Given the description of an element on the screen output the (x, y) to click on. 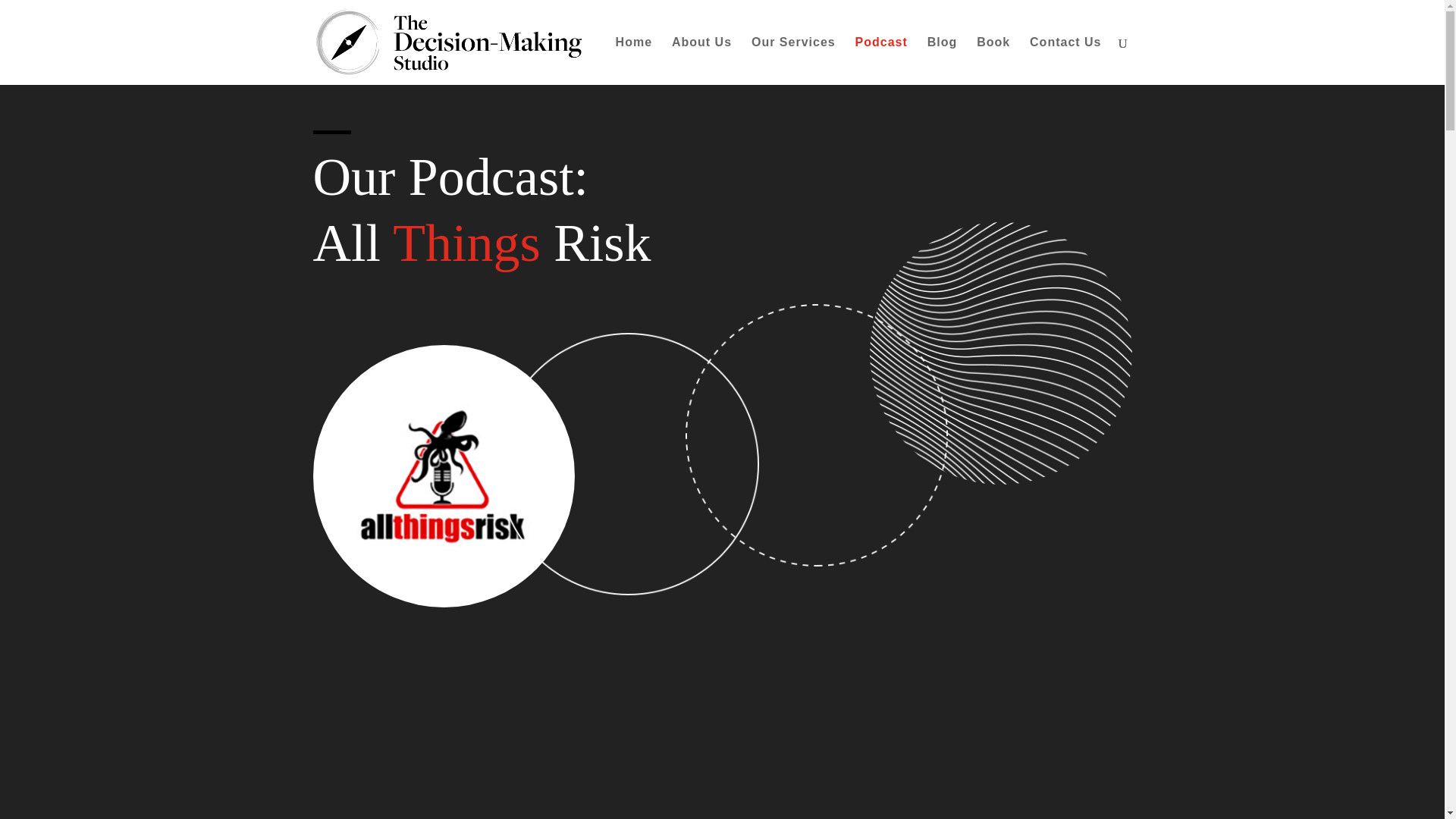
Podcast (881, 60)
About Us (701, 60)
estate-planning-81 (816, 434)
lines (1000, 352)
Circle (628, 463)
Contact Us (1064, 60)
Our Services (793, 60)
All things Risk (444, 475)
